Given the description of an element on the screen output the (x, y) to click on. 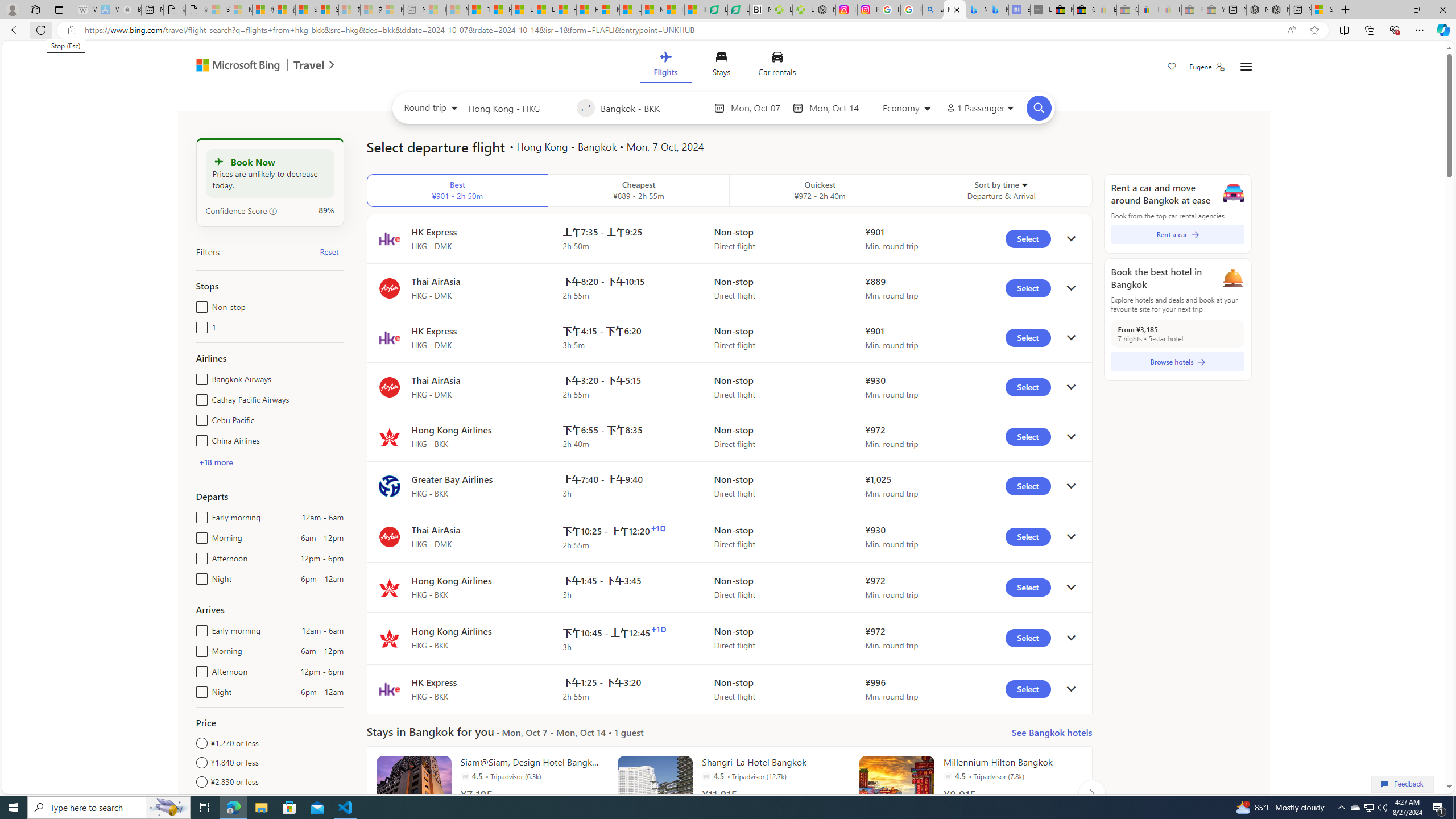
China Airlines (199, 438)
Sign in to your Microsoft account (1322, 9)
Yard, Garden & Outdoor Living - Sleeping (1214, 9)
Afternoon12pm - 6pm (199, 669)
Select class of service (906, 109)
Save (1171, 67)
